Given the description of an element on the screen output the (x, y) to click on. 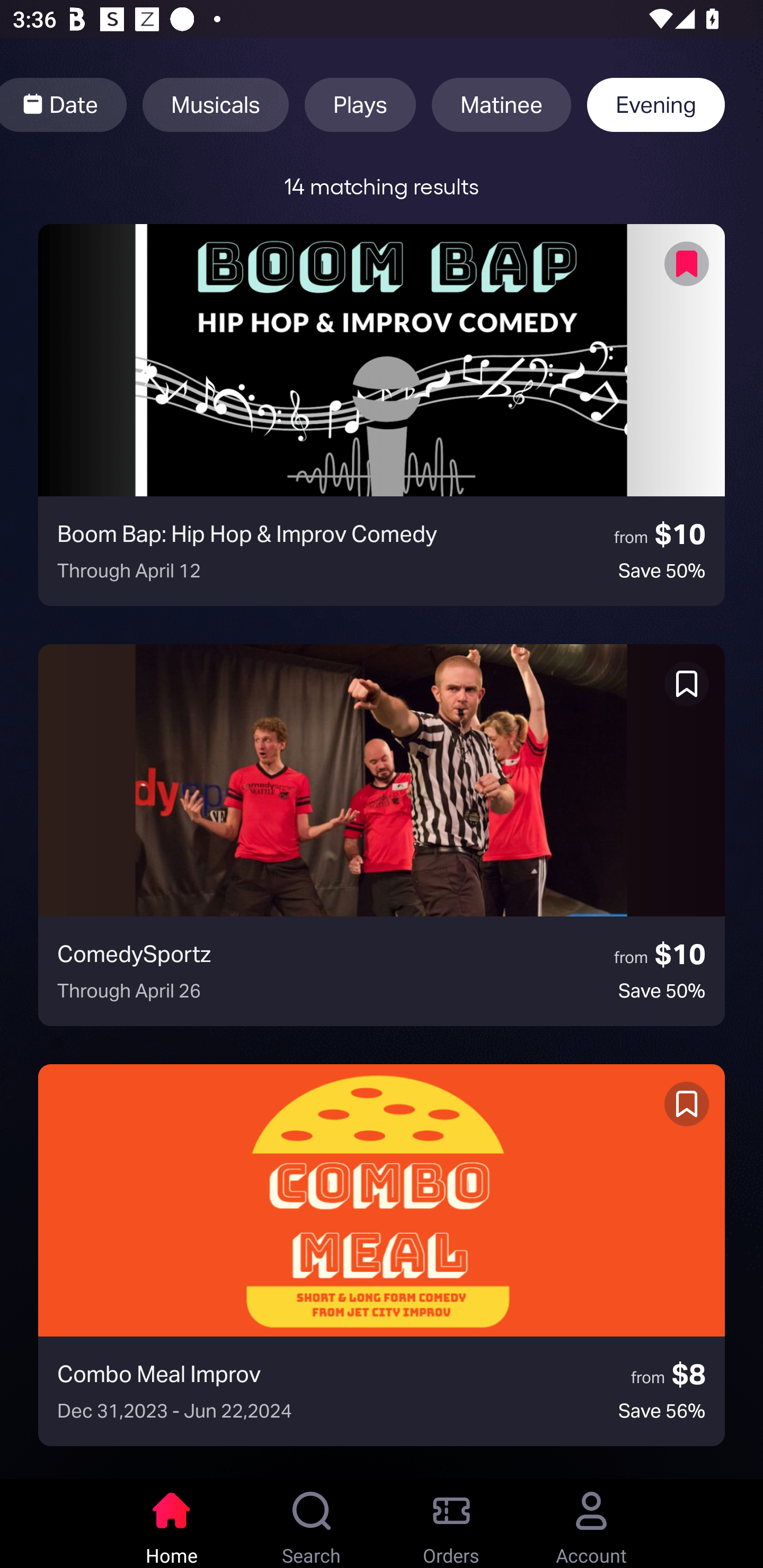
Date (63, 104)
Musicals (215, 104)
Plays (359, 104)
Matinee (501, 104)
Evening (655, 104)
ComedySportz from $10 Through April 26 Save 50% (381, 834)
Search (311, 1523)
Orders (451, 1523)
Account (591, 1523)
